Given the description of an element on the screen output the (x, y) to click on. 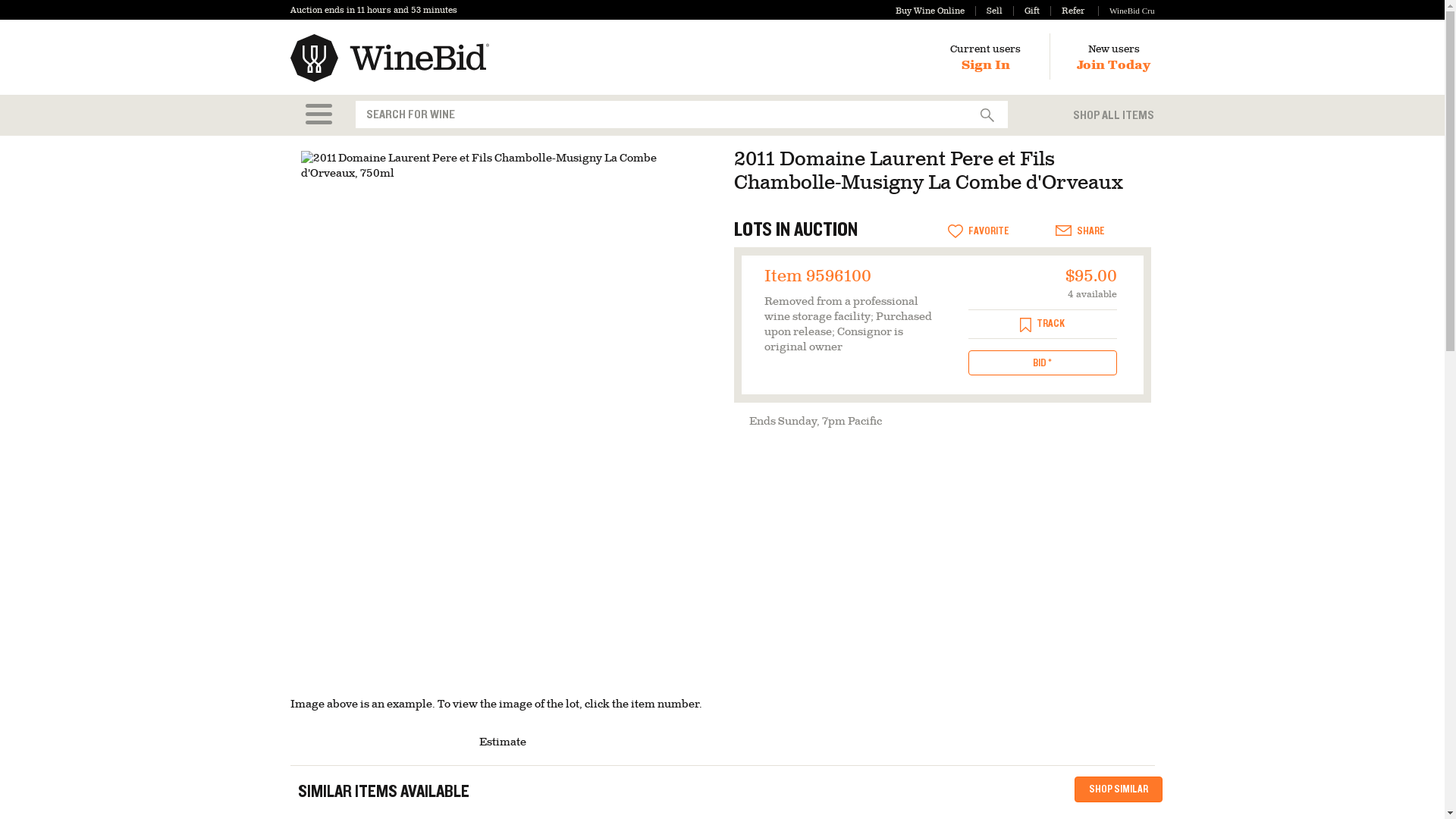
Sign In (985, 64)
Join Today (1113, 64)
Auction ends in 11 hours and 53 minutes (373, 9)
Sell (989, 10)
Refer (1066, 10)
WineBid Cru (1125, 10)
Buy Wine Online (929, 10)
Gift (1026, 10)
